Given the description of an element on the screen output the (x, y) to click on. 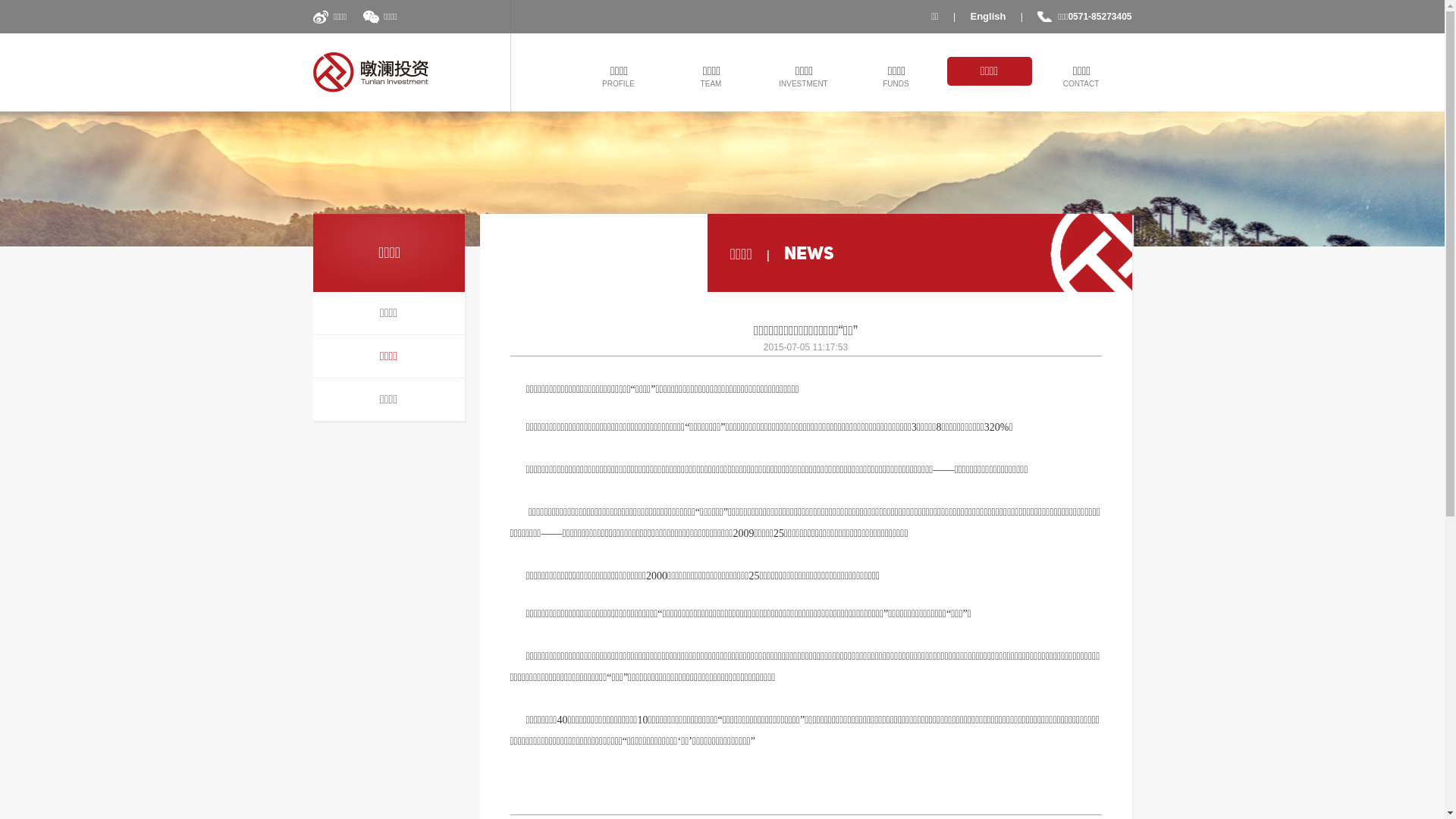
English Element type: text (988, 16)
